Given the description of an element on the screen output the (x, y) to click on. 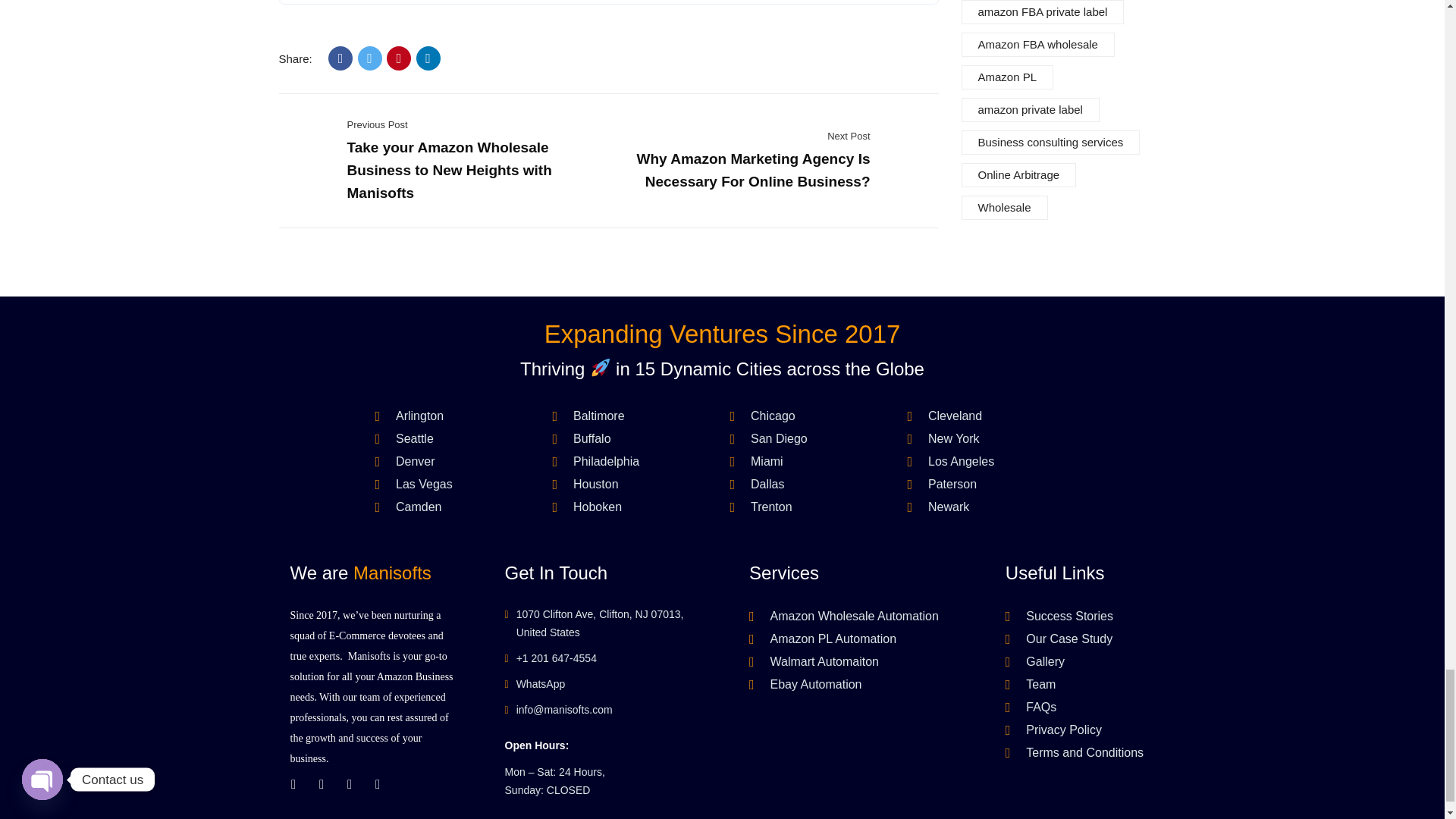
Pinterest (398, 57)
Twitter (369, 57)
LinkedIn (428, 57)
Facebook (340, 57)
